Given the description of an element on the screen output the (x, y) to click on. 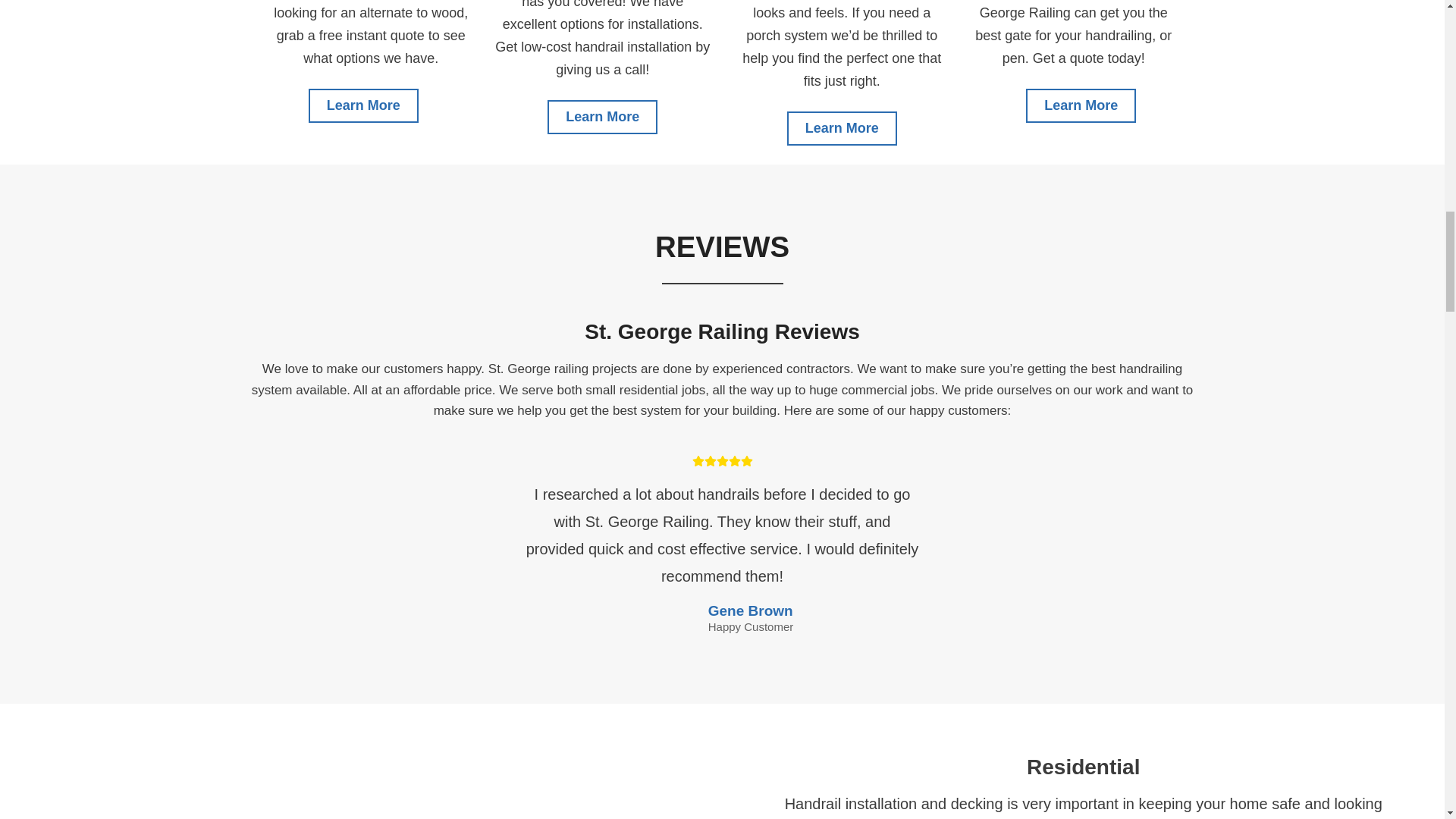
Learn More (841, 128)
Learn More (1080, 105)
Learn More (363, 105)
Learn More (602, 116)
